Given the description of an element on the screen output the (x, y) to click on. 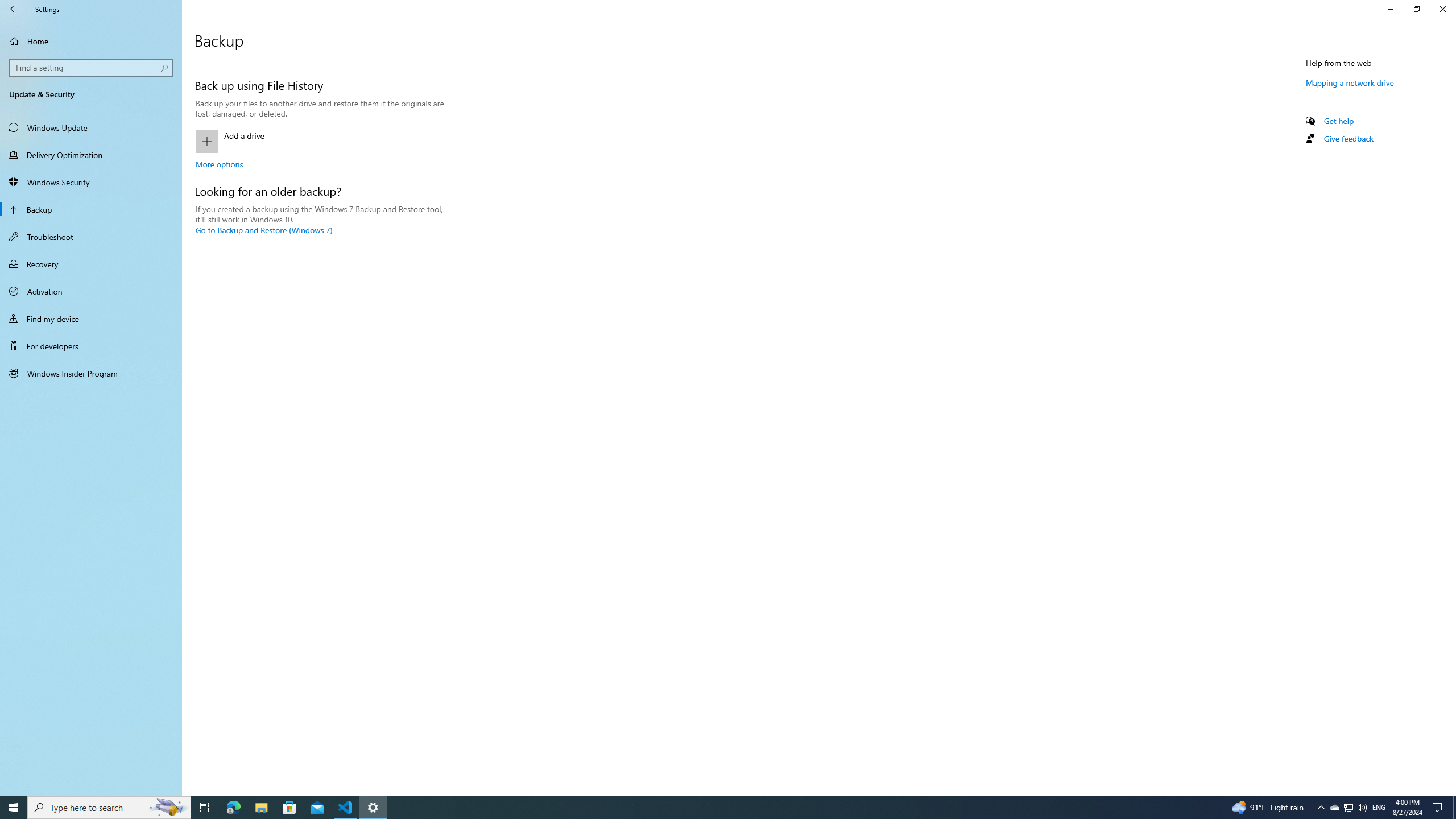
Running applications (706, 807)
Home (91, 40)
File Explorer (261, 807)
Get help (1338, 120)
Add a drive (319, 141)
More options (219, 163)
Mapping a network drive (1350, 82)
Windows Security (91, 181)
Notification Chevron (1320, 807)
Visual Studio Code - 1 running window (345, 807)
Tray Input Indicator - English (United States) (1378, 807)
